Given the description of an element on the screen output the (x, y) to click on. 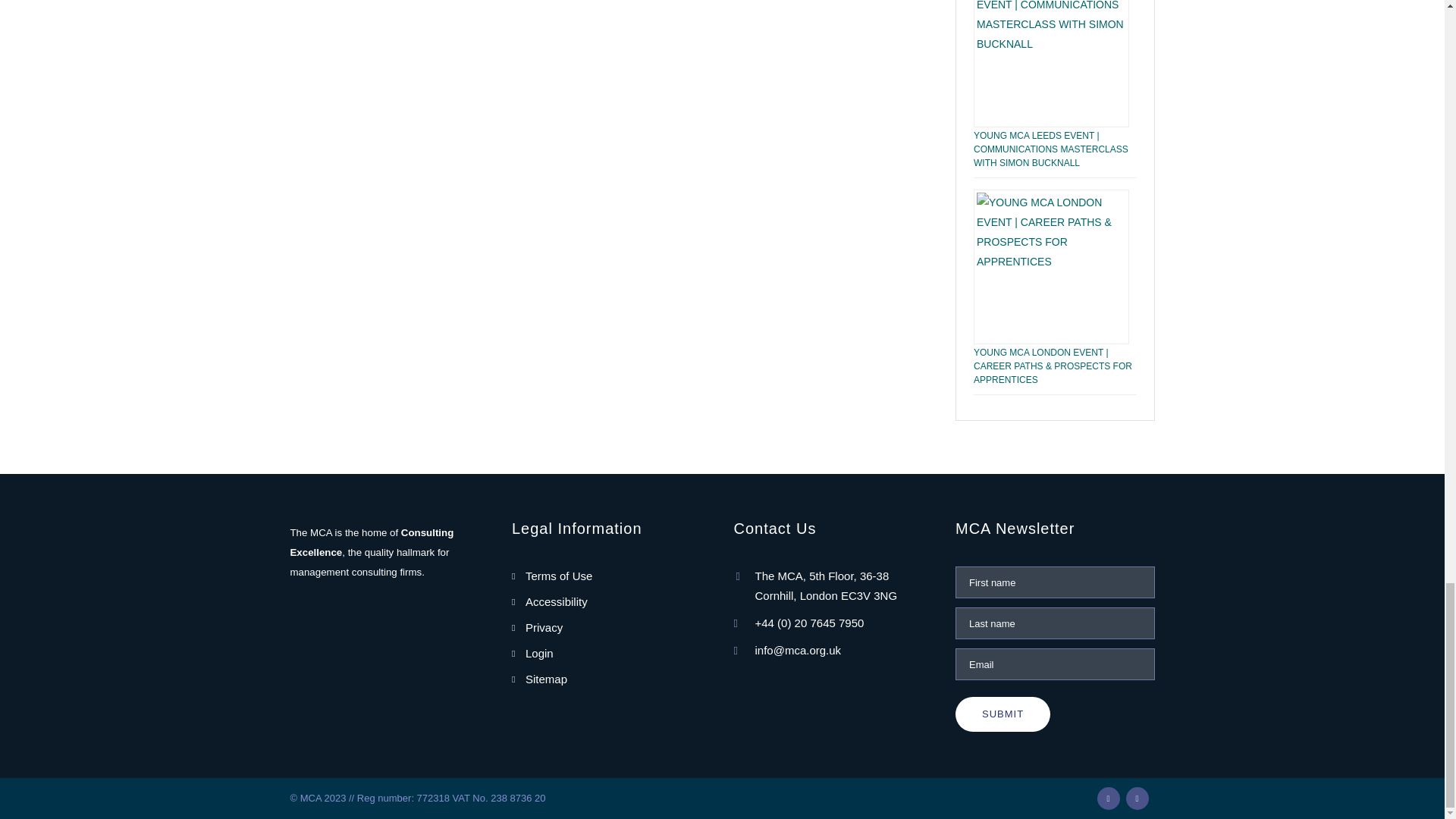
Last name (1054, 623)
Email (1054, 664)
First name (1054, 582)
